Given the description of an element on the screen output the (x, y) to click on. 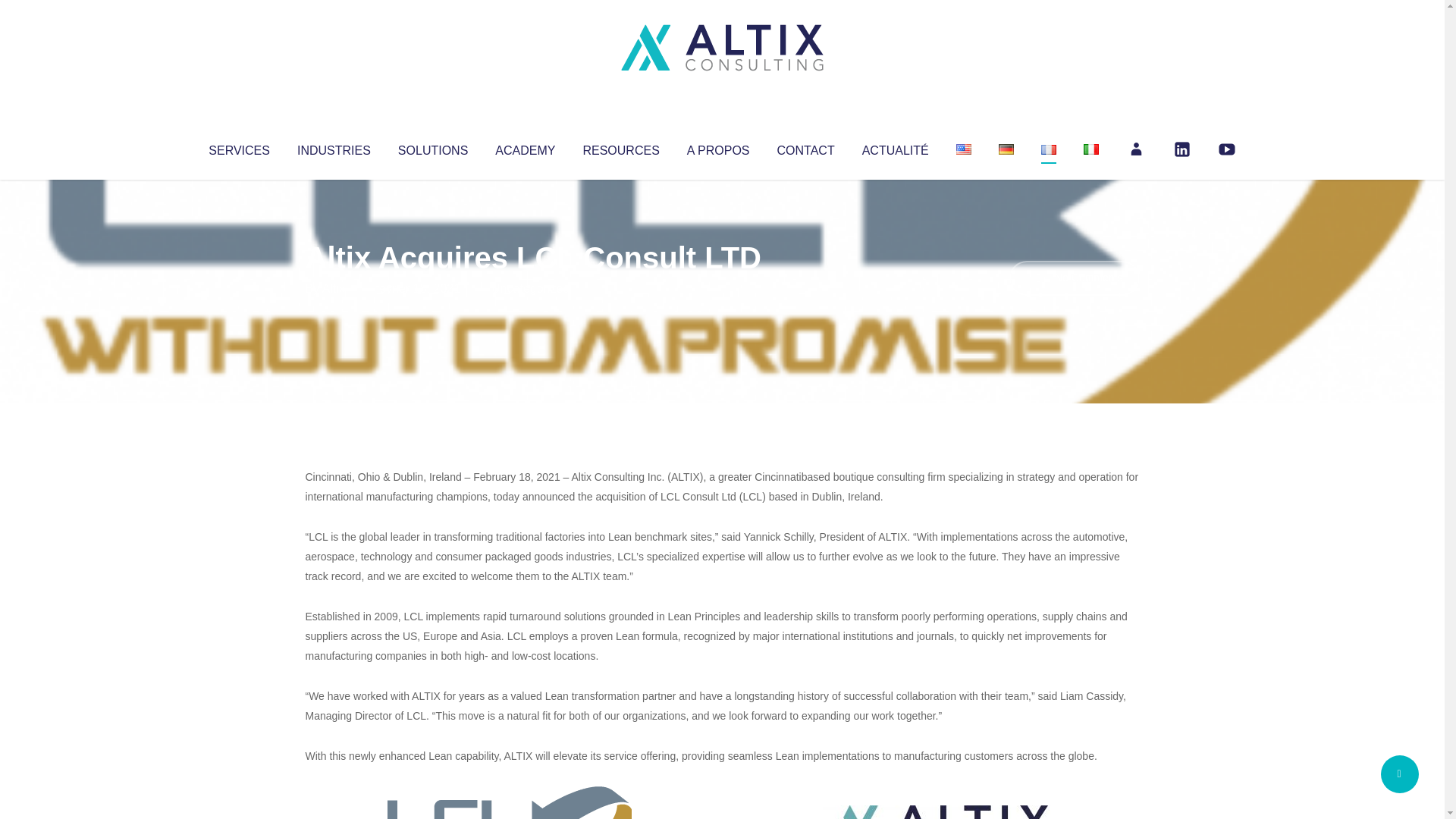
Uncategorized (530, 287)
A PROPOS (718, 146)
Articles par Altix (333, 287)
SERVICES (238, 146)
Altix (333, 287)
SOLUTIONS (432, 146)
INDUSTRIES (334, 146)
ACADEMY (524, 146)
RESOURCES (620, 146)
No Comments (1073, 278)
